Given the description of an element on the screen output the (x, y) to click on. 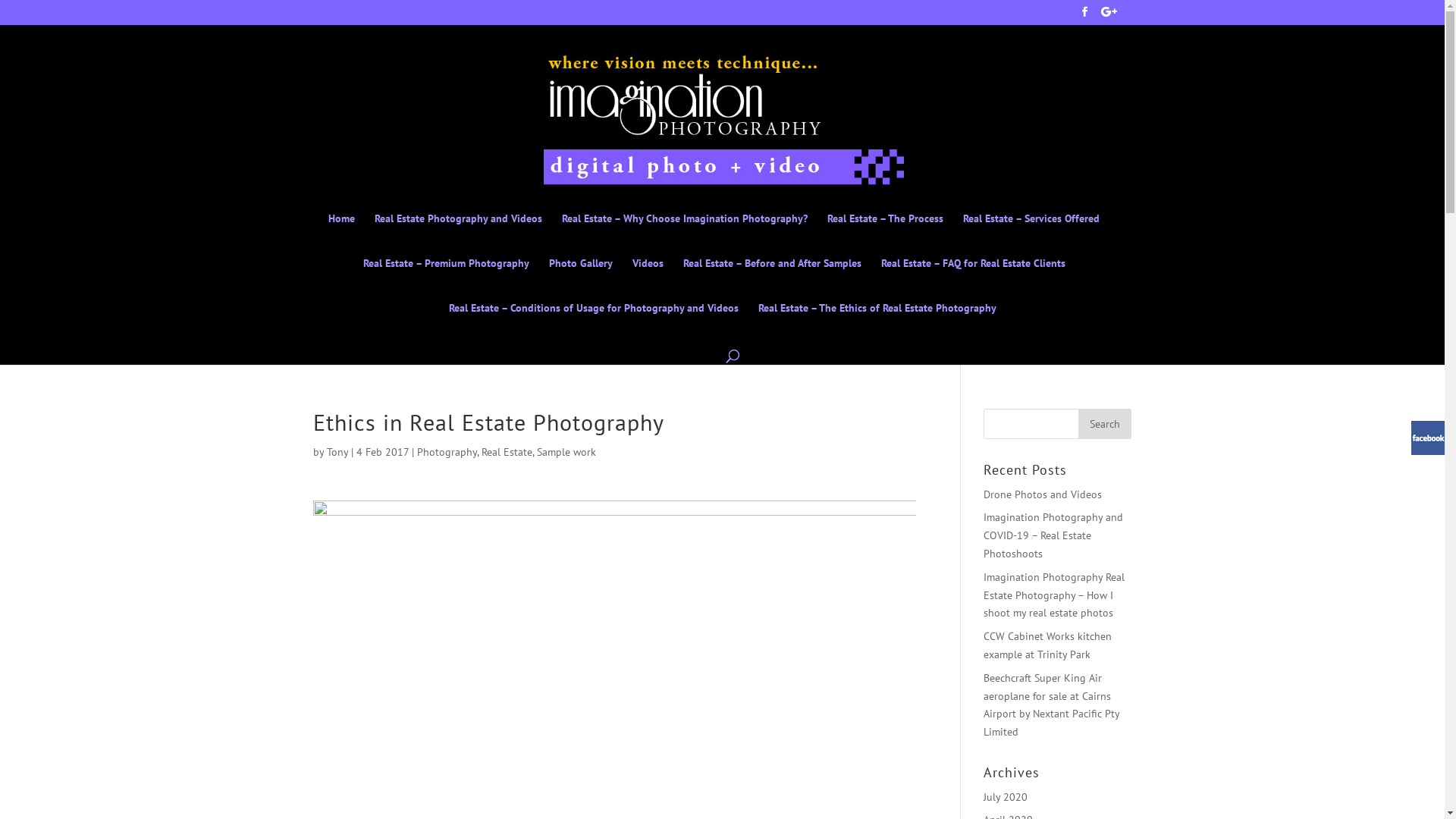
CCW Cabinet Works kitchen example at Trinity Park Element type: text (1047, 645)
Real Estate Element type: text (505, 451)
Search Element type: text (1104, 423)
Videos Element type: text (647, 279)
Photo Gallery Element type: text (580, 279)
Home Element type: text (341, 235)
July 2020 Element type: text (1005, 796)
Sample work Element type: text (566, 451)
Tony Element type: text (336, 451)
Drone Photos and Videos Element type: text (1042, 494)
Photography Element type: text (446, 451)
Real Estate Photography and Videos Element type: text (458, 235)
